Given the description of an element on the screen output the (x, y) to click on. 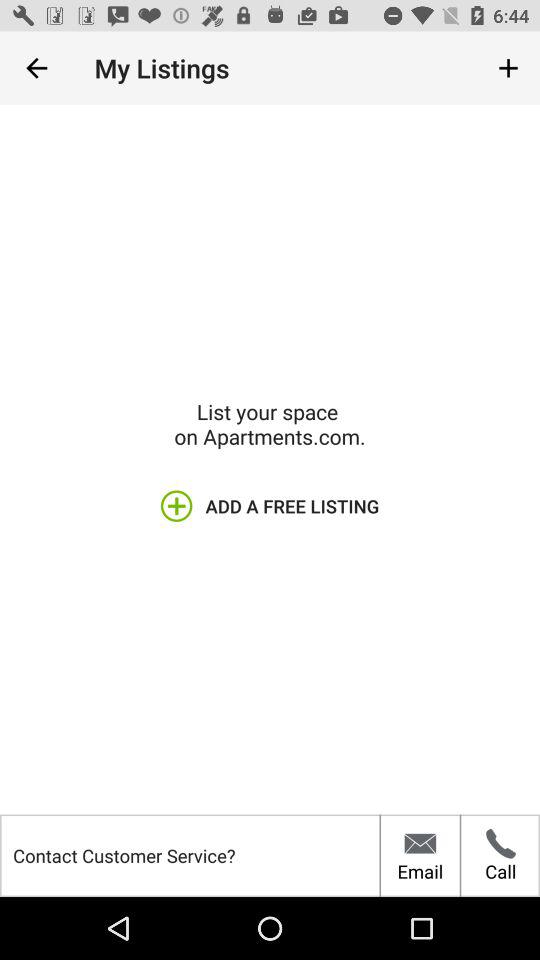
flip to the email (420, 855)
